Given the description of an element on the screen output the (x, y) to click on. 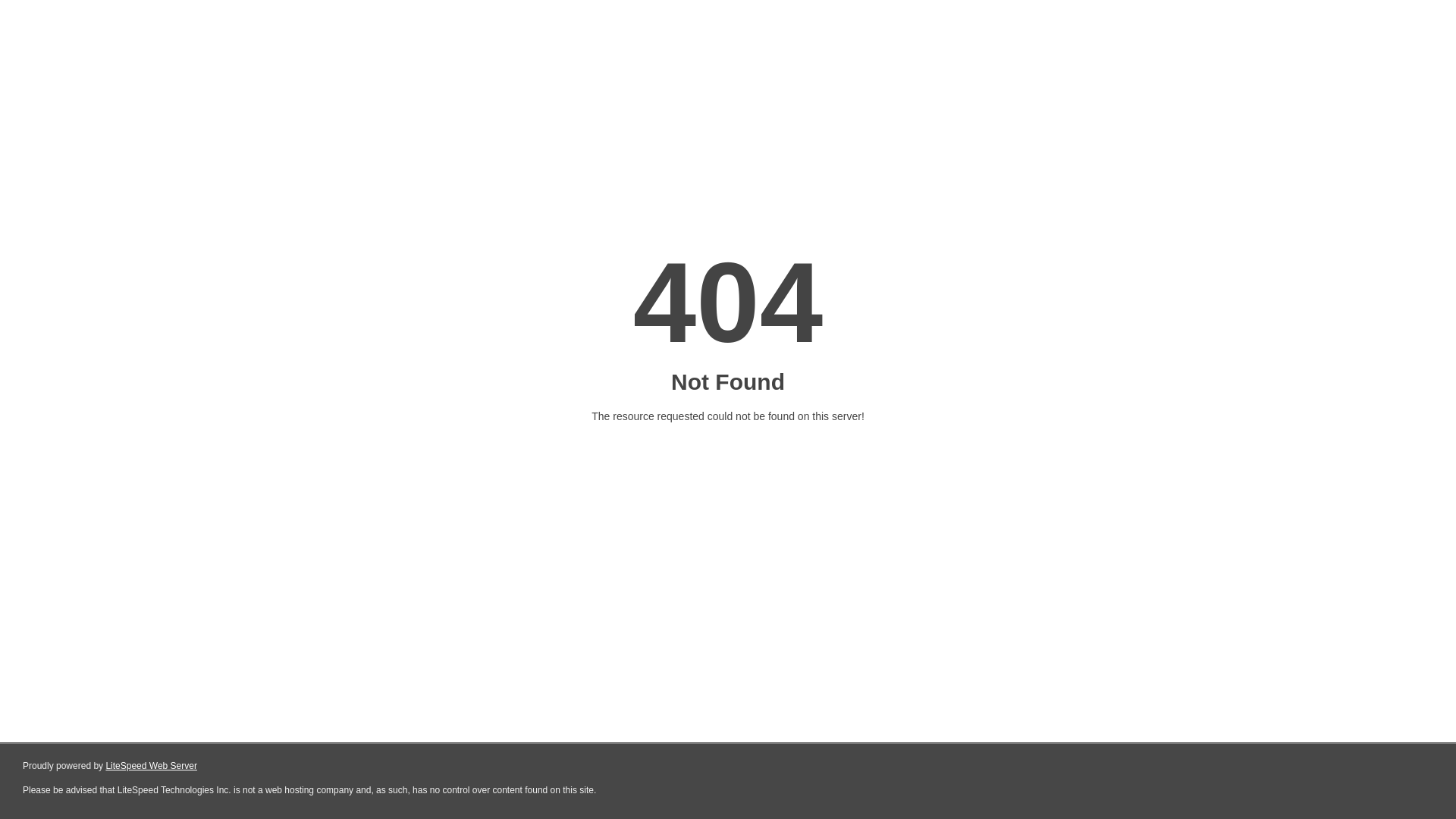
LiteSpeed Web Server Element type: text (151, 765)
